Given the description of an element on the screen output the (x, y) to click on. 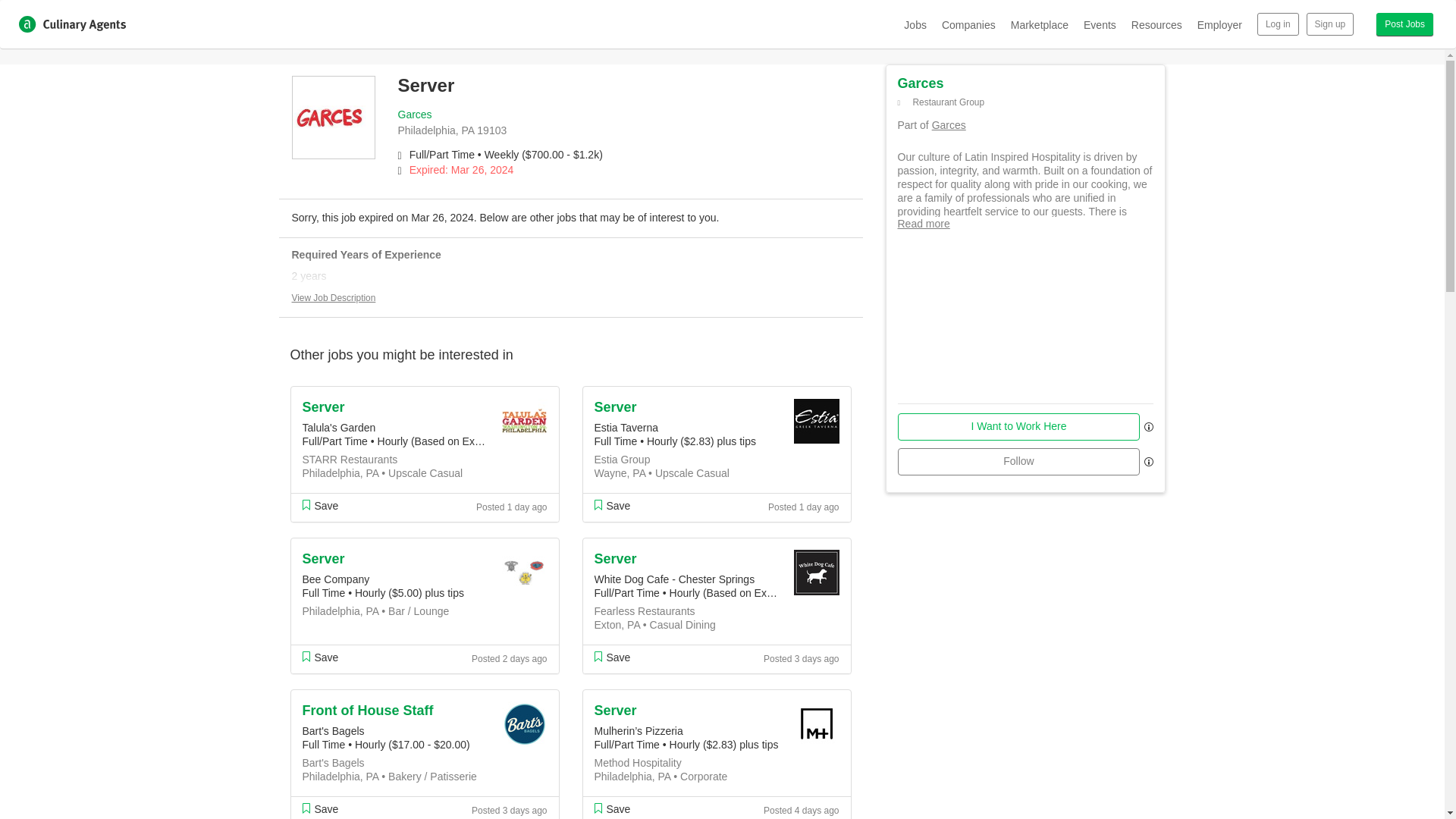
Save (319, 505)
Log in (1277, 24)
Save (612, 808)
Save (319, 808)
Post Jobs (1403, 24)
Garces (413, 114)
Resources (1156, 24)
Sign up (1330, 24)
Save (319, 657)
Save (612, 505)
